Given the description of an element on the screen output the (x, y) to click on. 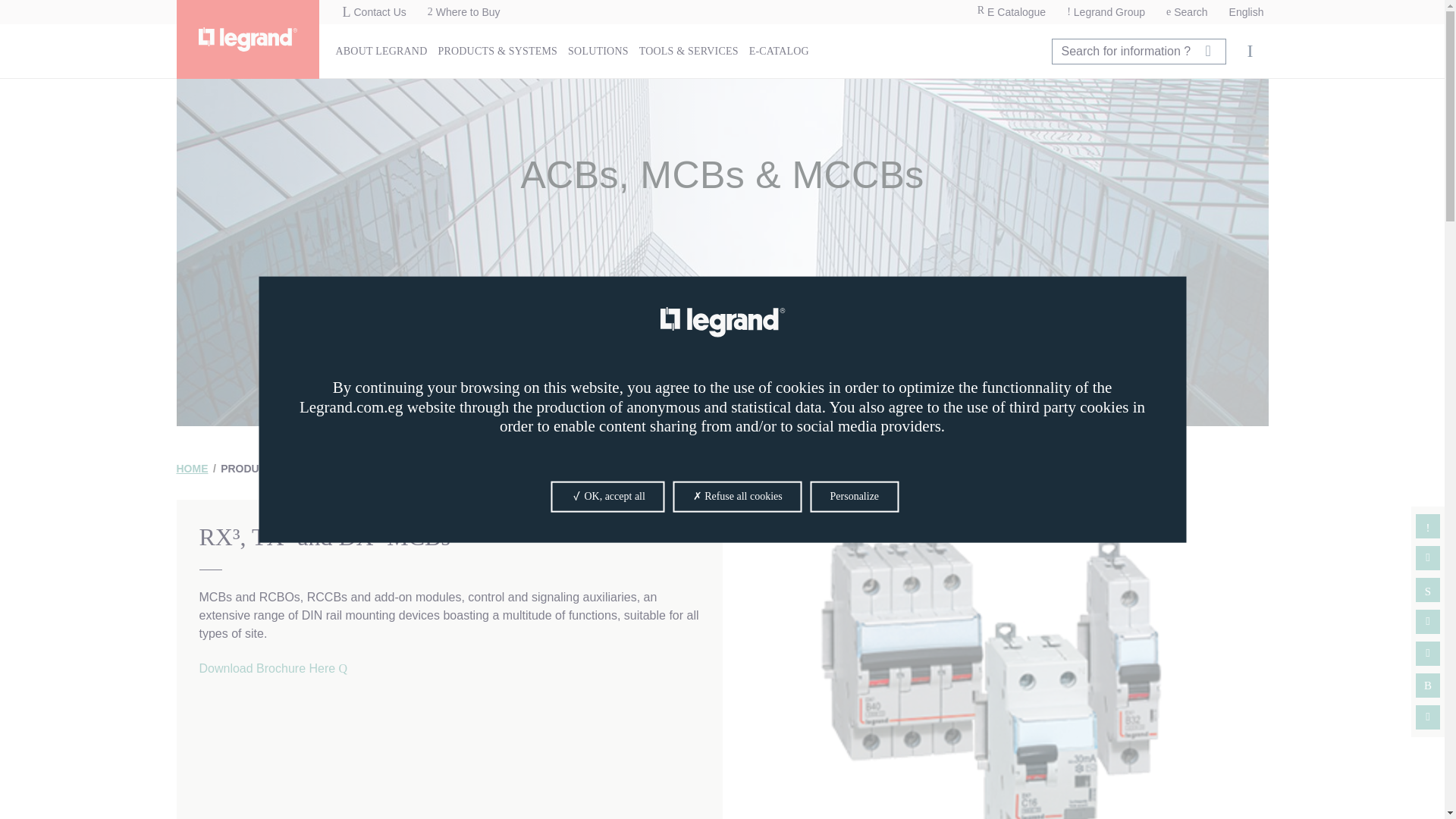
E Catalogue (1010, 12)
English (1246, 12)
Contact Us (373, 12)
Where to Buy (464, 12)
Where to Buy (464, 12)
E Catalogue (1010, 12)
Contact Us (373, 12)
Search (1186, 12)
Legrand Group (1106, 12)
Legrand Group (1106, 12)
